Given the description of an element on the screen output the (x, y) to click on. 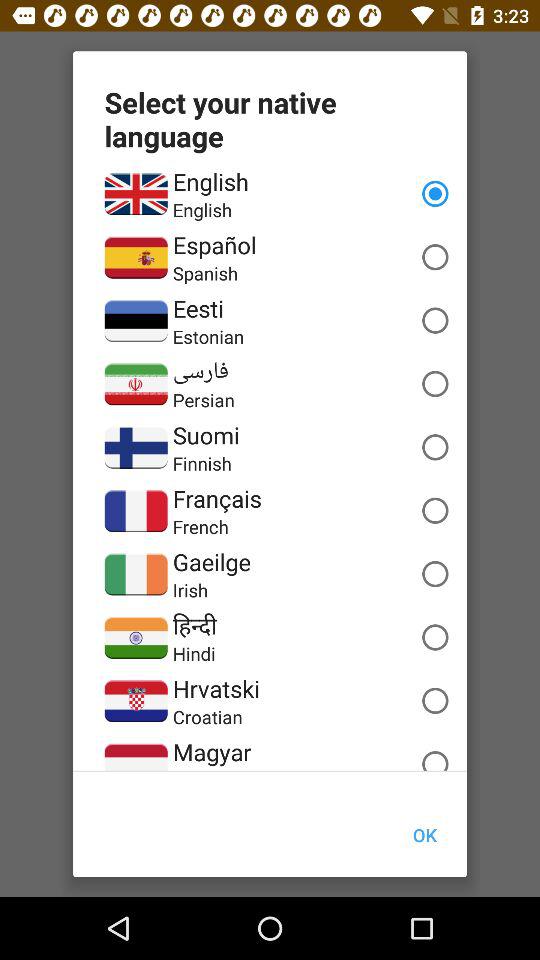
select ok (424, 834)
